Given the description of an element on the screen output the (x, y) to click on. 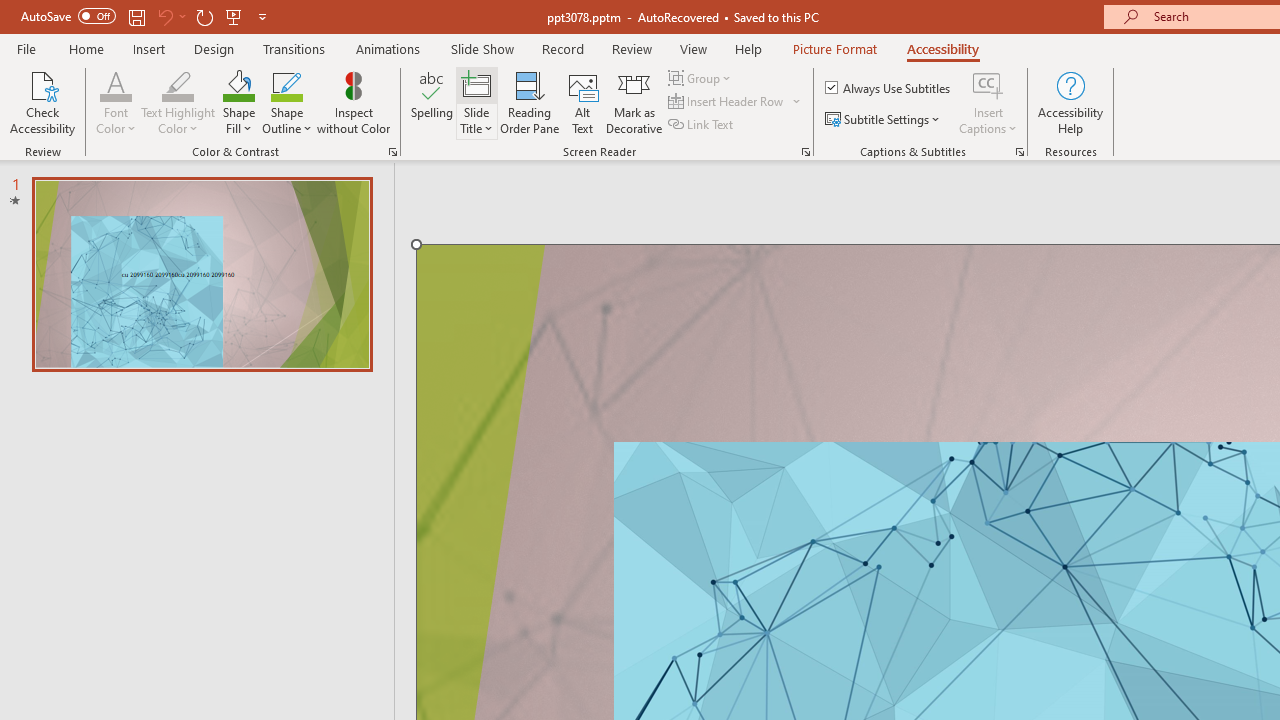
Link Text (702, 124)
Mark as Decorative (634, 102)
Accessibility Help (1070, 102)
Reading Order Pane (529, 102)
